Given the description of an element on the screen output the (x, y) to click on. 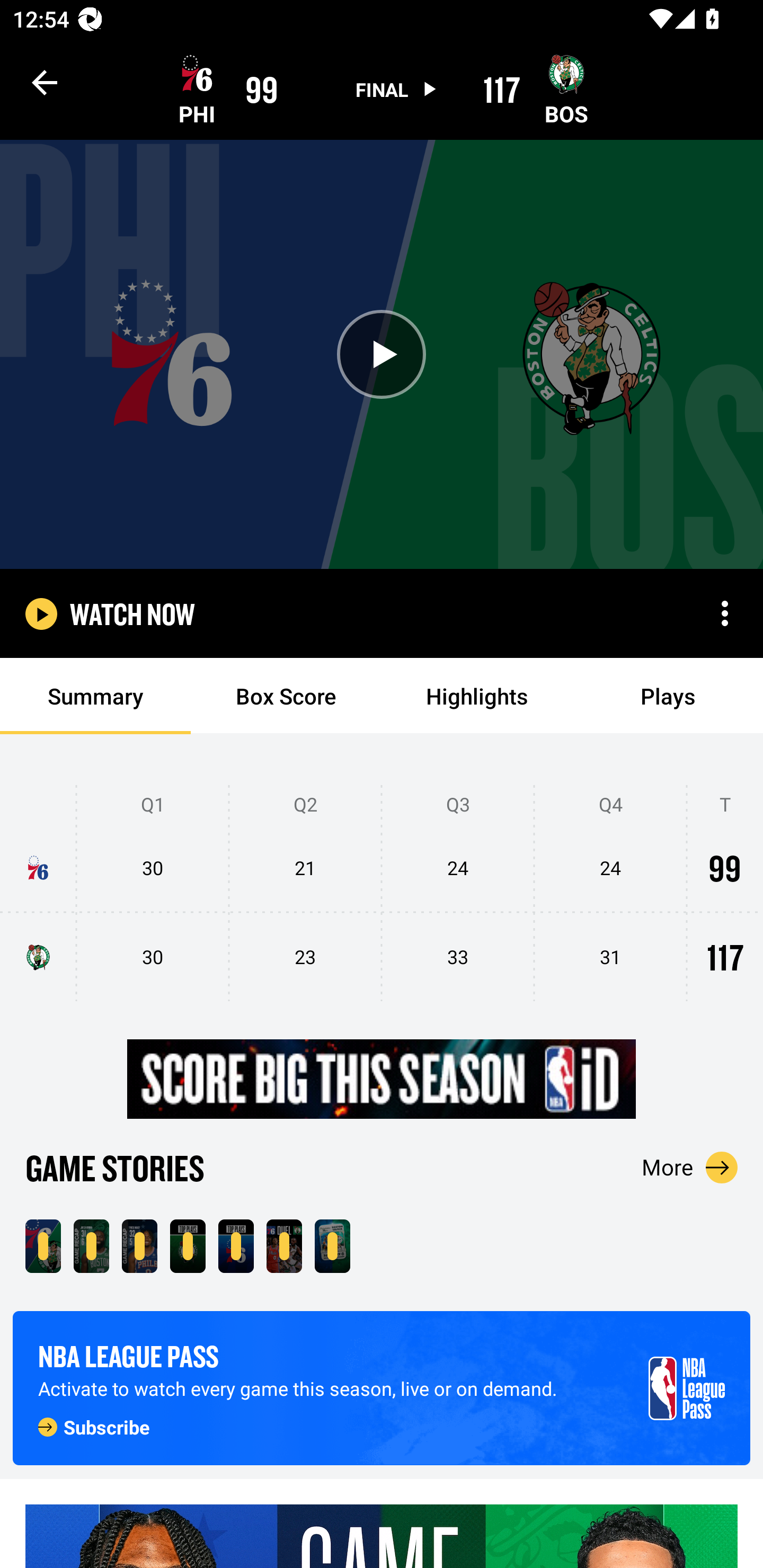
Navigate up (44, 82)
More options (724, 613)
WATCH NOW (132, 613)
Box Score (285, 695)
Highlights (476, 695)
Plays (667, 695)
Q1 Q2 Q3 Q4 T 30 21 24 24 99 30 23 33 31 117 (381, 893)
More (689, 1166)
NEW BOS 117, PHI 99 - Feb 27 (43, 1246)
NEW Highlights From Jaylen Brown's 31-Point Game (91, 1246)
NEW Highlights From Tyrese Maxey's 32-Point Game (139, 1246)
NEW BOS's Top Plays from PHI vs. BOS (187, 1246)
NEW PHI's Top Plays from PHI vs. BOS (236, 1246)
Maxey & Brown Show Out In Faceoff NEW (284, 1246)
Eastern Conference Clash: 76ers Vs. Celtics ⚔️ NEW (332, 1246)
